Given the description of an element on the screen output the (x, y) to click on. 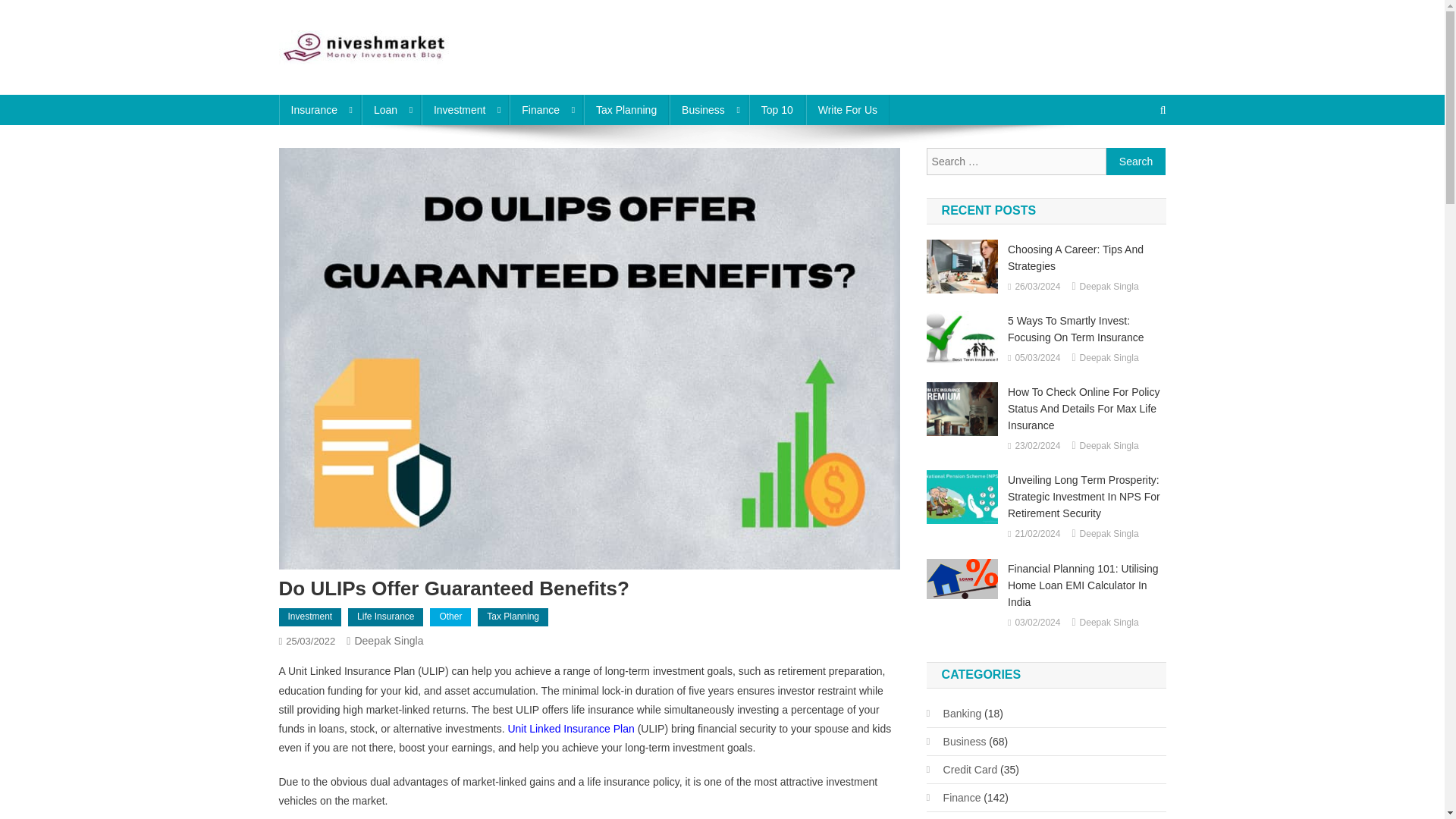
Other (449, 617)
Life Insurance (385, 617)
Search (1136, 161)
Search (1133, 160)
Write For Us (847, 110)
Search (1136, 161)
Investment (465, 110)
Business (708, 110)
Loan (390, 110)
Top 10 (777, 110)
Insurance (320, 110)
Finance (546, 110)
Tax Planning (625, 110)
Investment (310, 617)
